Given the description of an element on the screen output the (x, y) to click on. 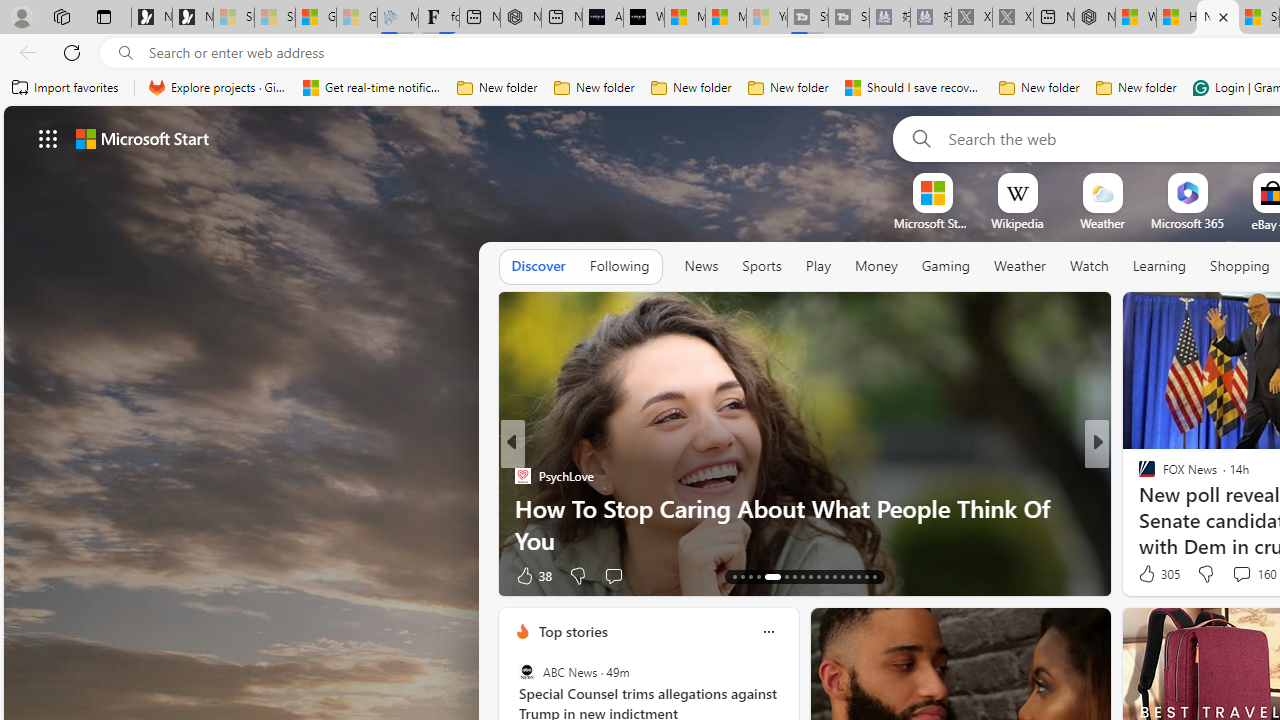
Microsoft start (142, 138)
